Given the description of an element on the screen output the (x, y) to click on. 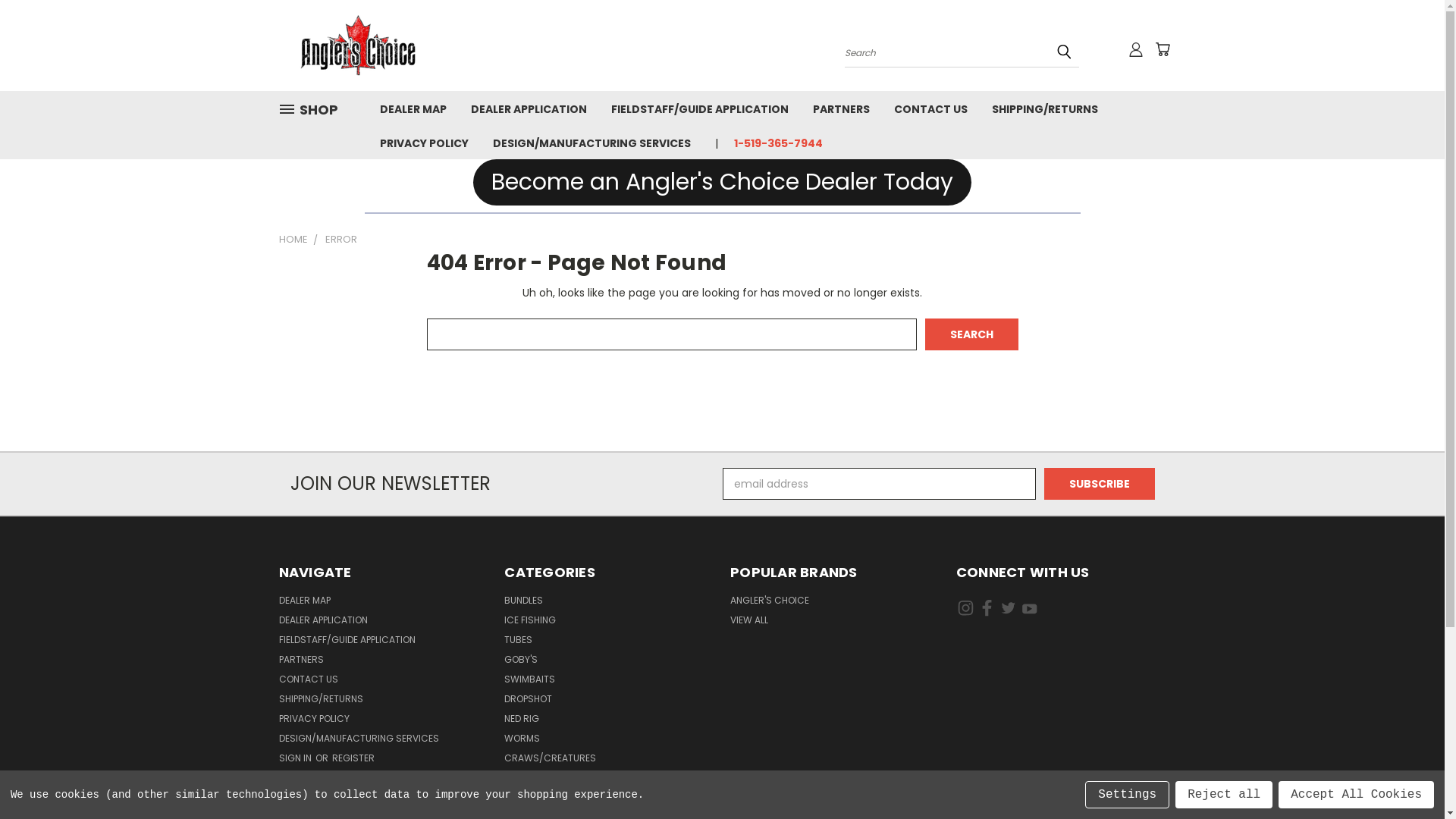
PARTNERS Element type: text (301, 661)
TUBES Element type: text (518, 642)
DESIGN/MANUFACTURING SERVICES Element type: text (359, 740)
CONTACT US Element type: text (930, 108)
DEALER APPLICATION Element type: text (528, 108)
SHIPPING/RETURNS Element type: text (1044, 108)
ICE FISHING Element type: text (529, 622)
ANGLER'S CHOICE Element type: text (769, 602)
FIELDSTAFF/GUIDE APPLICATION Element type: text (347, 642)
Accept All Cookies Element type: text (1356, 794)
Subscribe Element type: text (1099, 483)
PRIVACY POLICY Element type: text (423, 142)
Become an Angler's Choice Dealer Today Element type: text (722, 182)
VIEW ALL Element type: text (749, 622)
SITEMAP Element type: text (297, 780)
GOBY'S Element type: text (520, 661)
DEALER MAP Element type: text (412, 108)
SHIPPING/RETURNS Element type: text (321, 701)
PARTNERS Element type: text (840, 108)
REGISTER Element type: text (353, 760)
1-519-365-7944 Element type: text (771, 142)
NED RIG Element type: text (521, 721)
HOME Element type: text (293, 239)
Angler's Choice Element type: hover (362, 45)
CRAWS/CREATURES Element type: text (550, 760)
BUNDLES Element type: text (523, 602)
SWIMBAITS Element type: text (529, 681)
Search Element type: text (971, 334)
PRIVACY POLICY Element type: text (314, 721)
PANFISH Element type: text (521, 799)
DESIGN/MANUFACTURING SERVICES Element type: text (591, 142)
SIGN IN Element type: text (296, 760)
DROPSHOT Element type: text (528, 701)
submit Element type: hover (1063, 51)
WALLEYE Element type: text (522, 780)
DEALER APPLICATION Element type: text (323, 622)
WORMS Element type: text (521, 740)
Reject all Element type: text (1223, 794)
CONTACT US Element type: text (308, 681)
FIELDSTAFF/GUIDE APPLICATION Element type: text (699, 108)
DEALER MAP Element type: text (304, 602)
SHOP Element type: text (314, 109)
Settings Element type: text (1127, 794)
